Given the description of an element on the screen output the (x, y) to click on. 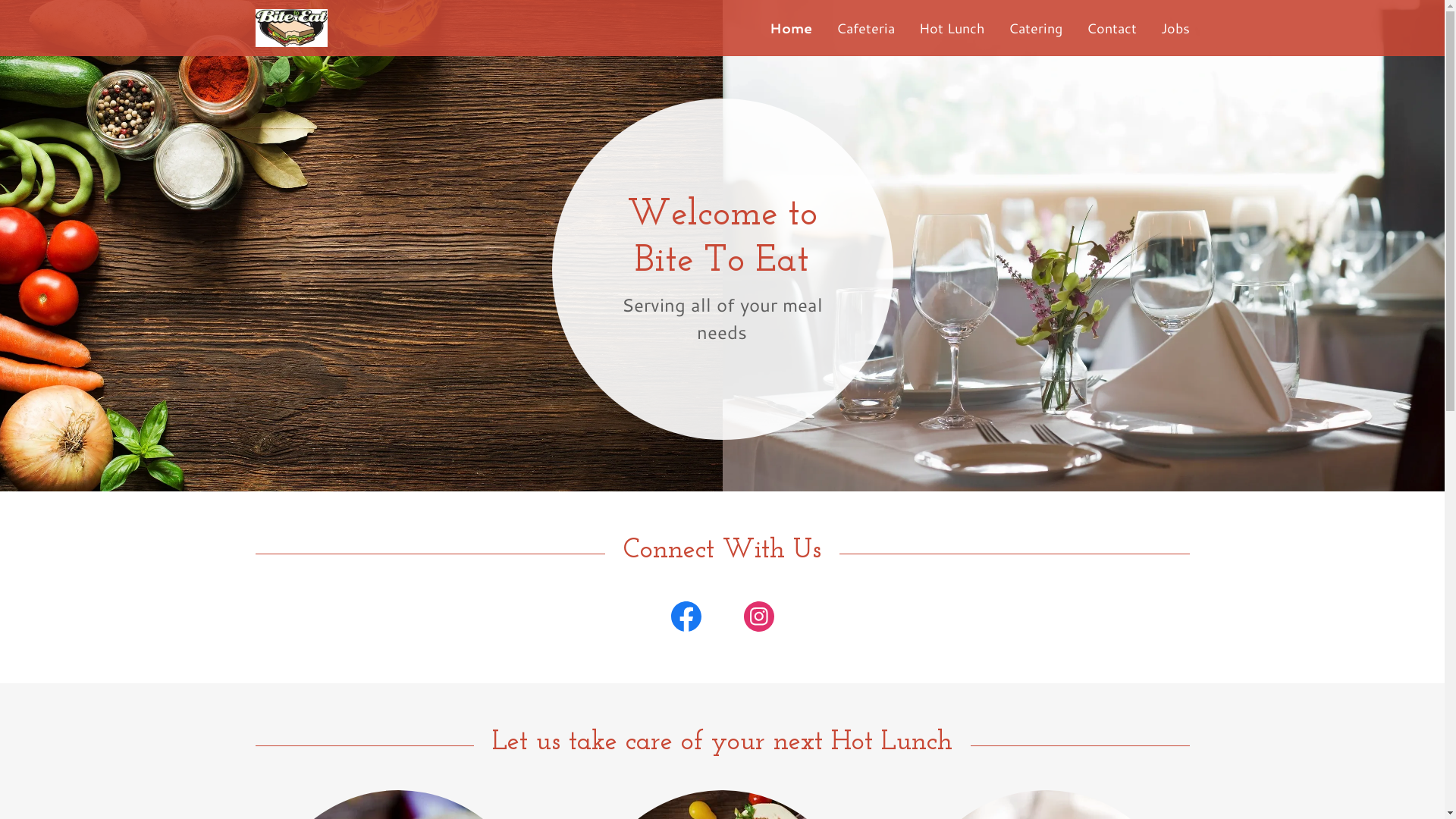
Home Element type: text (789, 27)
Cafeteria Element type: text (864, 27)
Hot Lunch Element type: text (951, 27)
Contact Element type: text (1110, 27)
Jobs Element type: text (1174, 27)
Catering Element type: text (1035, 27)
